Given the description of an element on the screen output the (x, y) to click on. 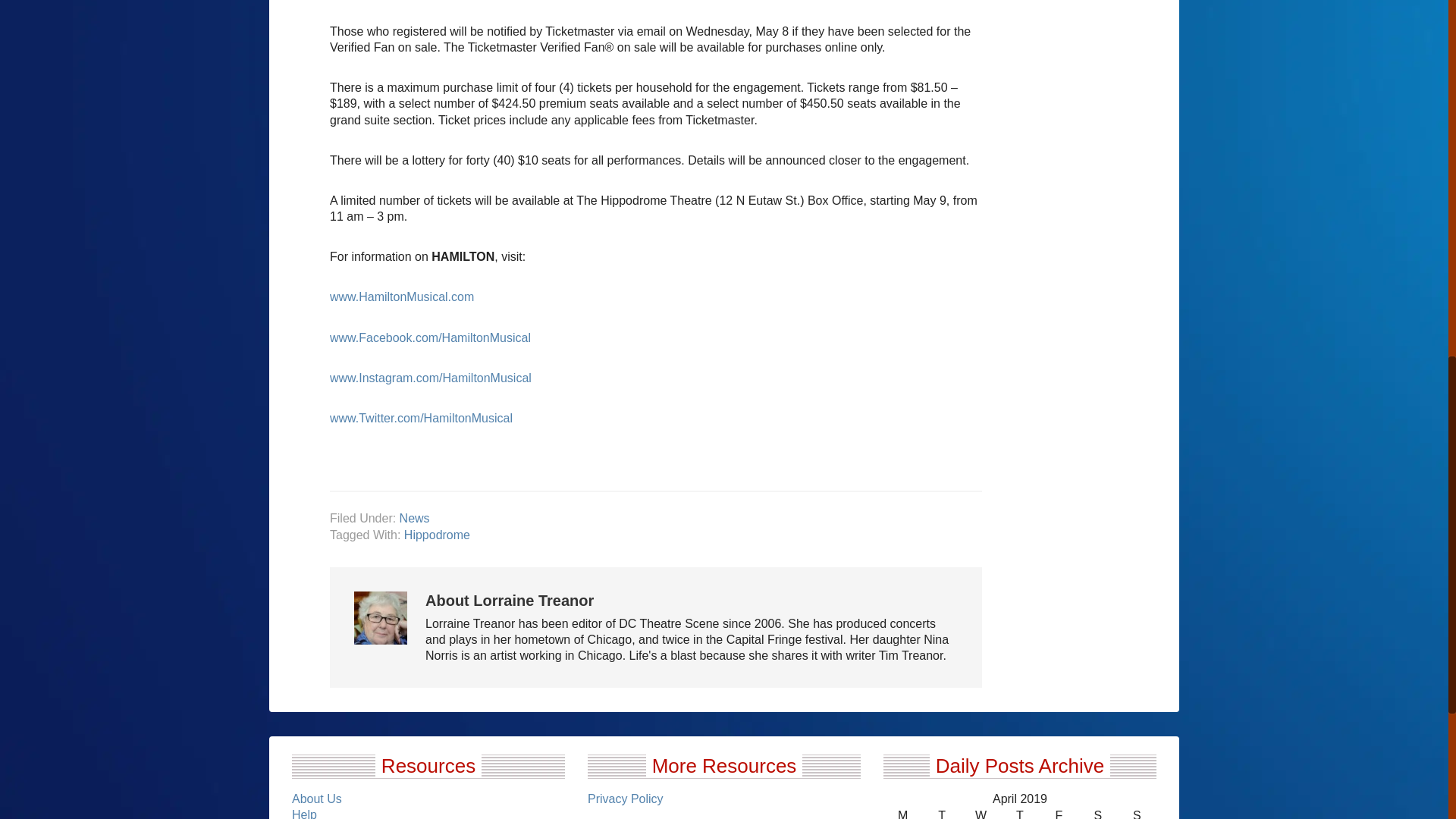
Help (304, 813)
Tuesday (940, 812)
Friday (1058, 812)
Hippodrome (437, 534)
Monday (902, 812)
About Us (317, 798)
Wednesday (980, 812)
www.HamiltonMusical.com (402, 296)
Saturday (1097, 812)
News (413, 517)
